Given the description of an element on the screen output the (x, y) to click on. 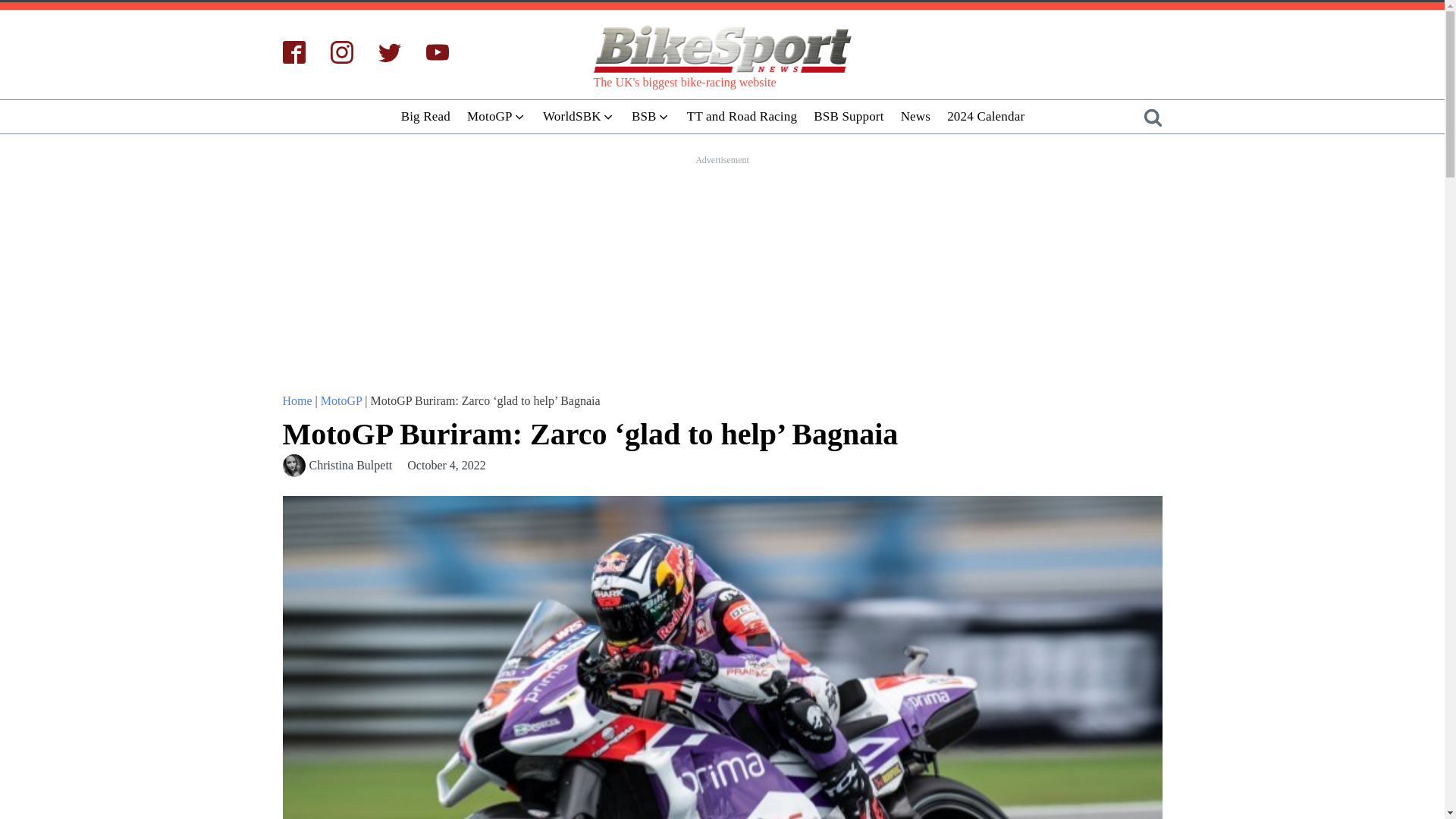
2024 Calendar (985, 116)
MotoGP (341, 400)
Christina Bulpett (350, 465)
News (915, 116)
MotoGP (496, 116)
The UK's biggest bike-racing website (721, 50)
TT and Road Racing (741, 116)
Home (296, 400)
Big Read (425, 116)
BSB Support (848, 116)
WorldSBK (578, 116)
BSB (650, 116)
